Given the description of an element on the screen output the (x, y) to click on. 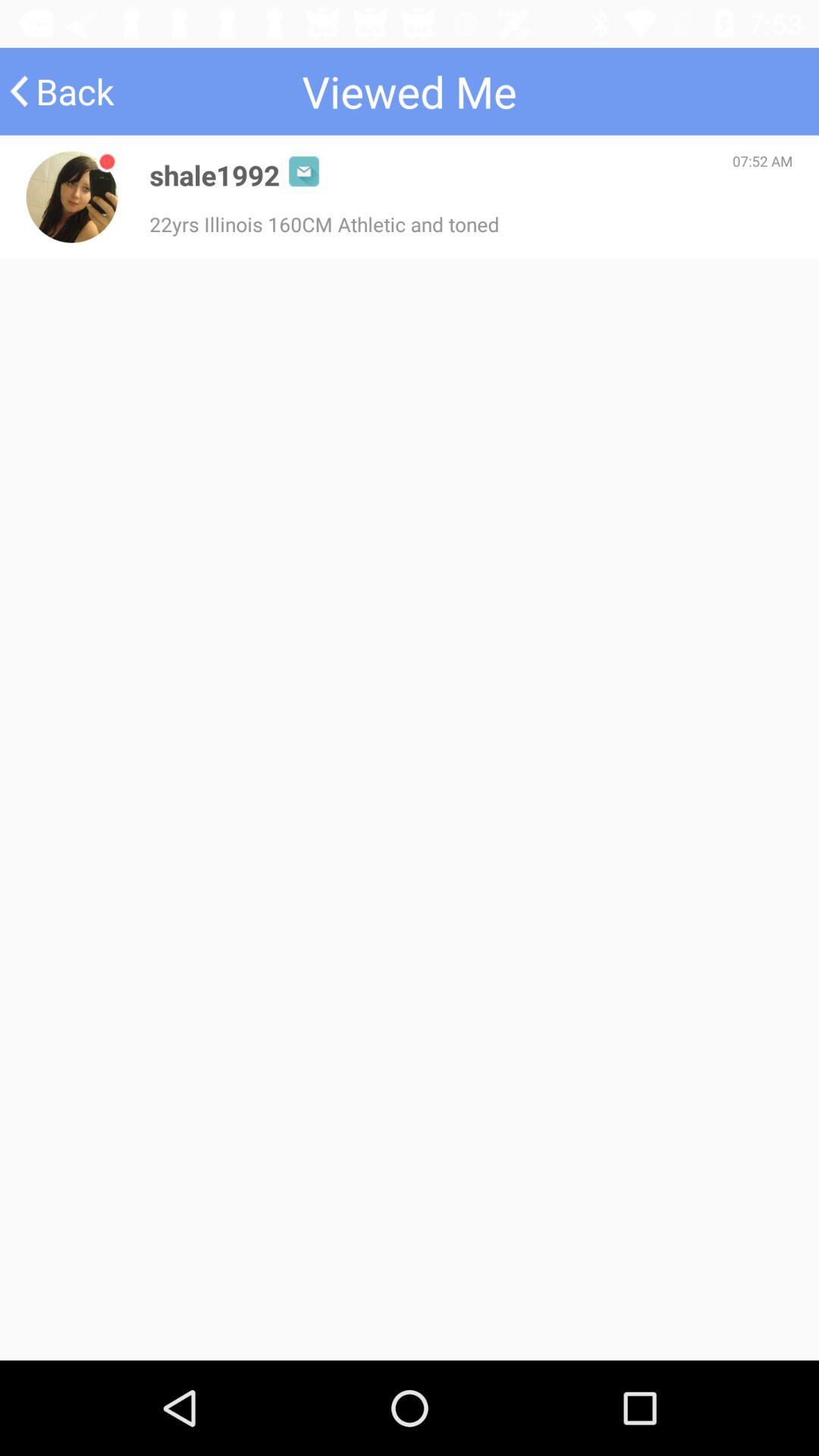
press icon below the shale1992 icon (324, 224)
